Given the description of an element on the screen output the (x, y) to click on. 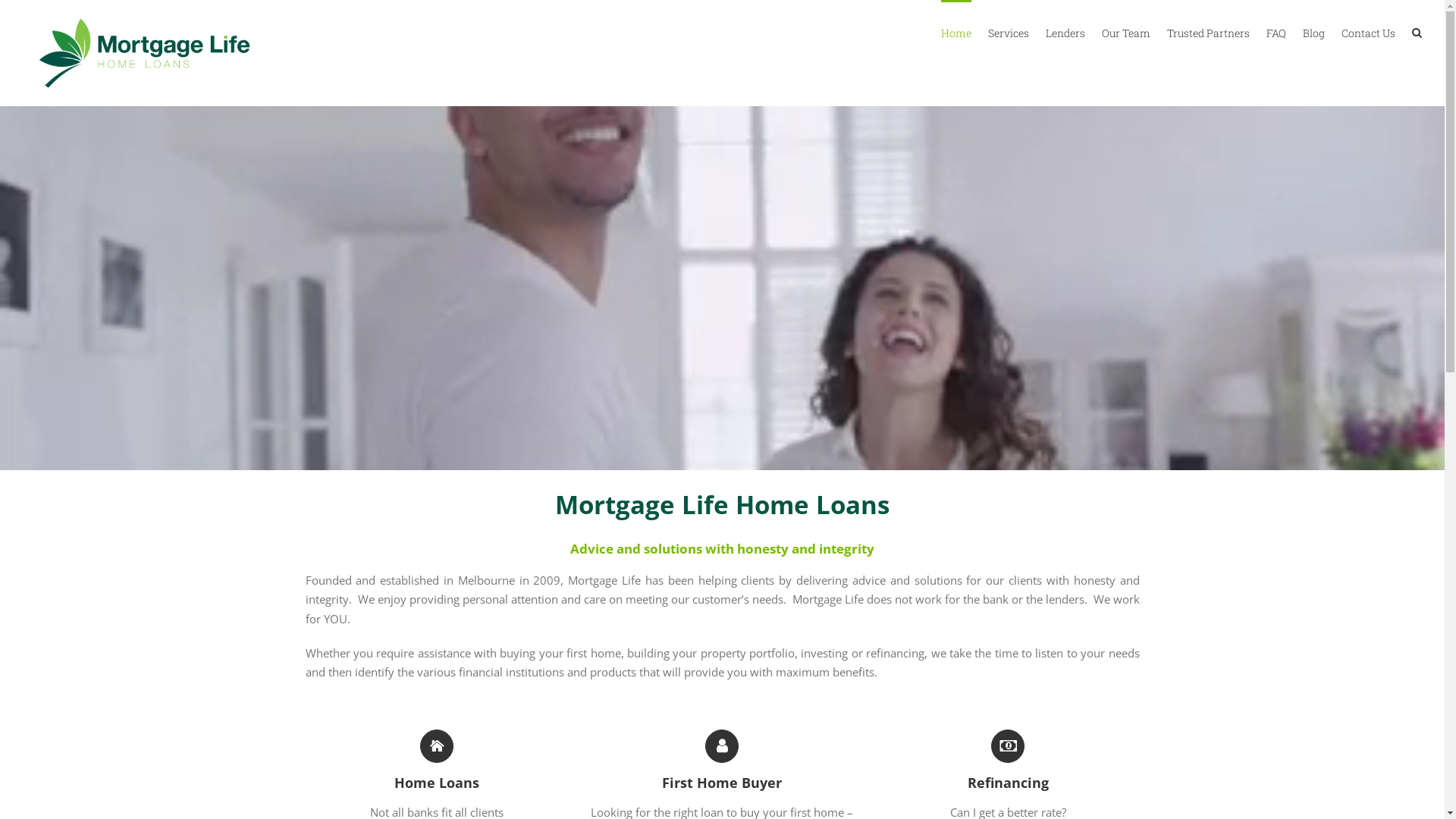
Our Team Element type: text (1125, 31)
Search Element type: hover (1416, 31)
Services Element type: text (1008, 31)
Lenders Element type: text (1065, 31)
Contact Us Element type: text (1368, 31)
Home Element type: text (956, 31)
FAQ Element type: text (1276, 31)
Blog Element type: text (1313, 31)
Trusted Partners Element type: text (1208, 31)
